Given the description of an element on the screen output the (x, y) to click on. 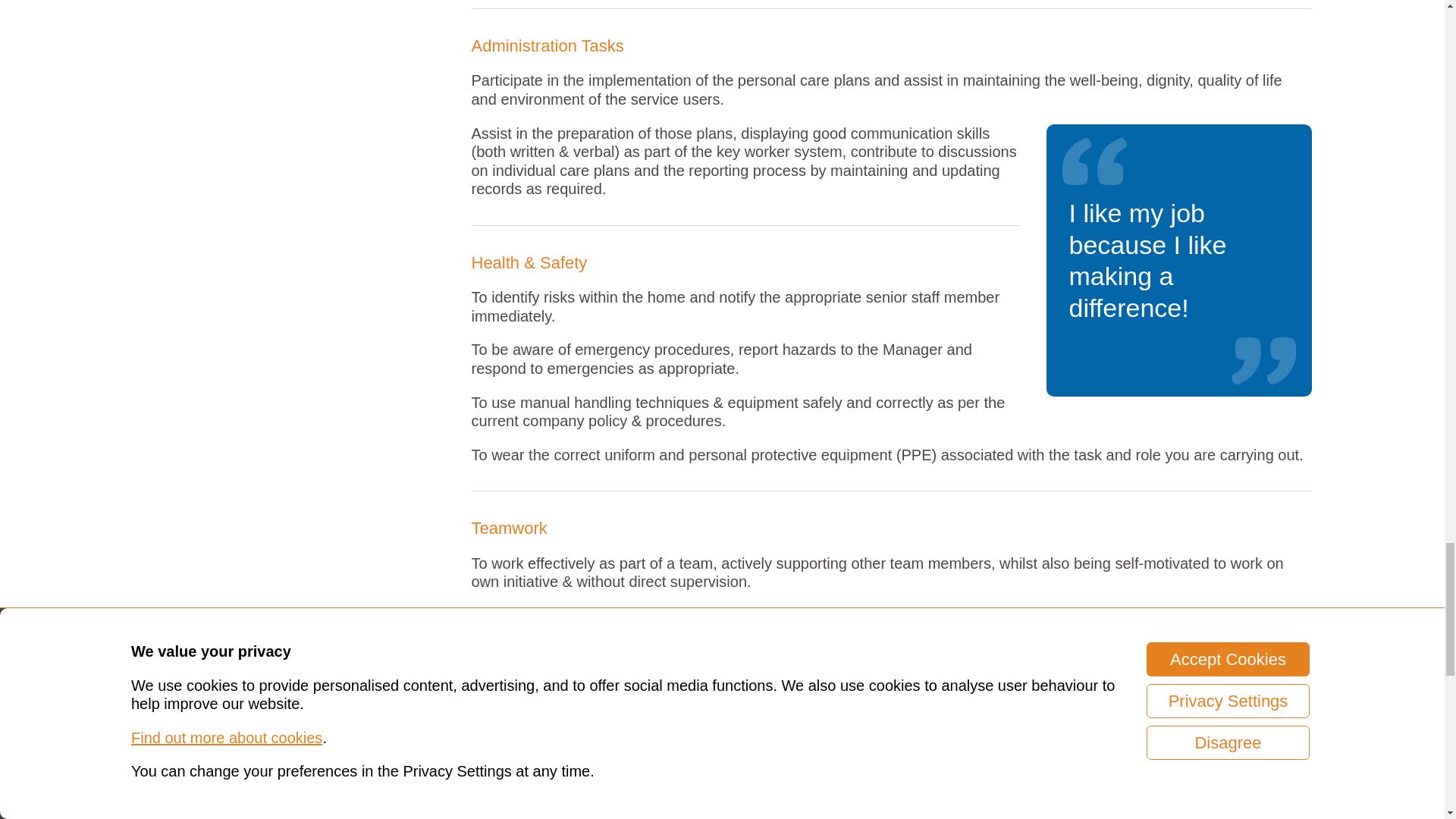
Starting Your Career (841, 769)
Experience Counts (995, 769)
